Given the description of an element on the screen output the (x, y) to click on. 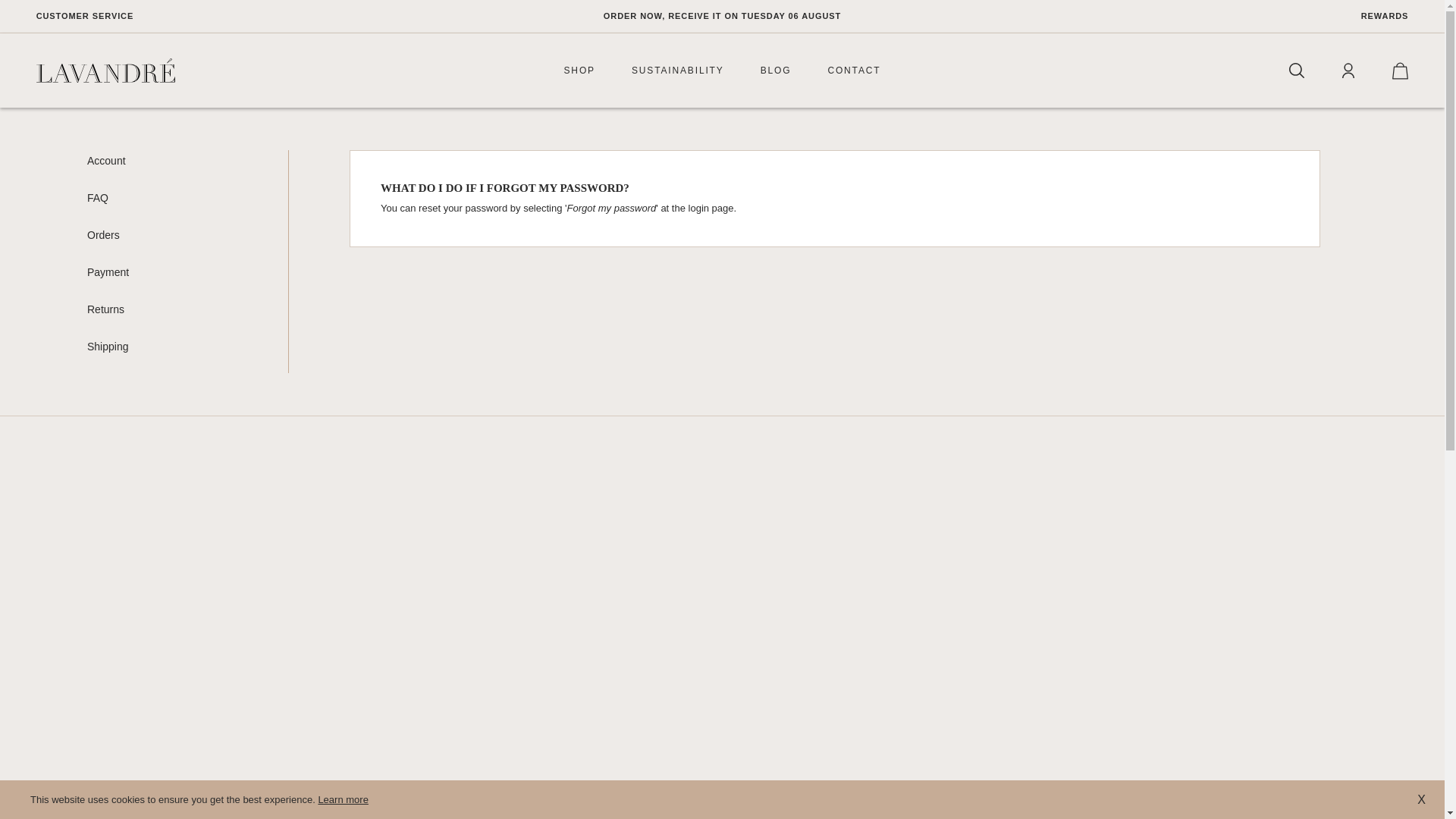
Orders (103, 235)
WHAT DO I DO IF I FORGOT MY PASSWORD? (504, 187)
ORDER NOW, RECEIVE IT ON TUESDAY 06 AUGUST (721, 16)
Payment (108, 272)
Learn more (342, 798)
CUSTOMER SERVICE (207, 16)
Returns (105, 309)
SUSTAINABILITY (677, 70)
FAQ (97, 198)
Account (106, 160)
Shipping (108, 346)
REWARDS (1236, 16)
